Given the description of an element on the screen output the (x, y) to click on. 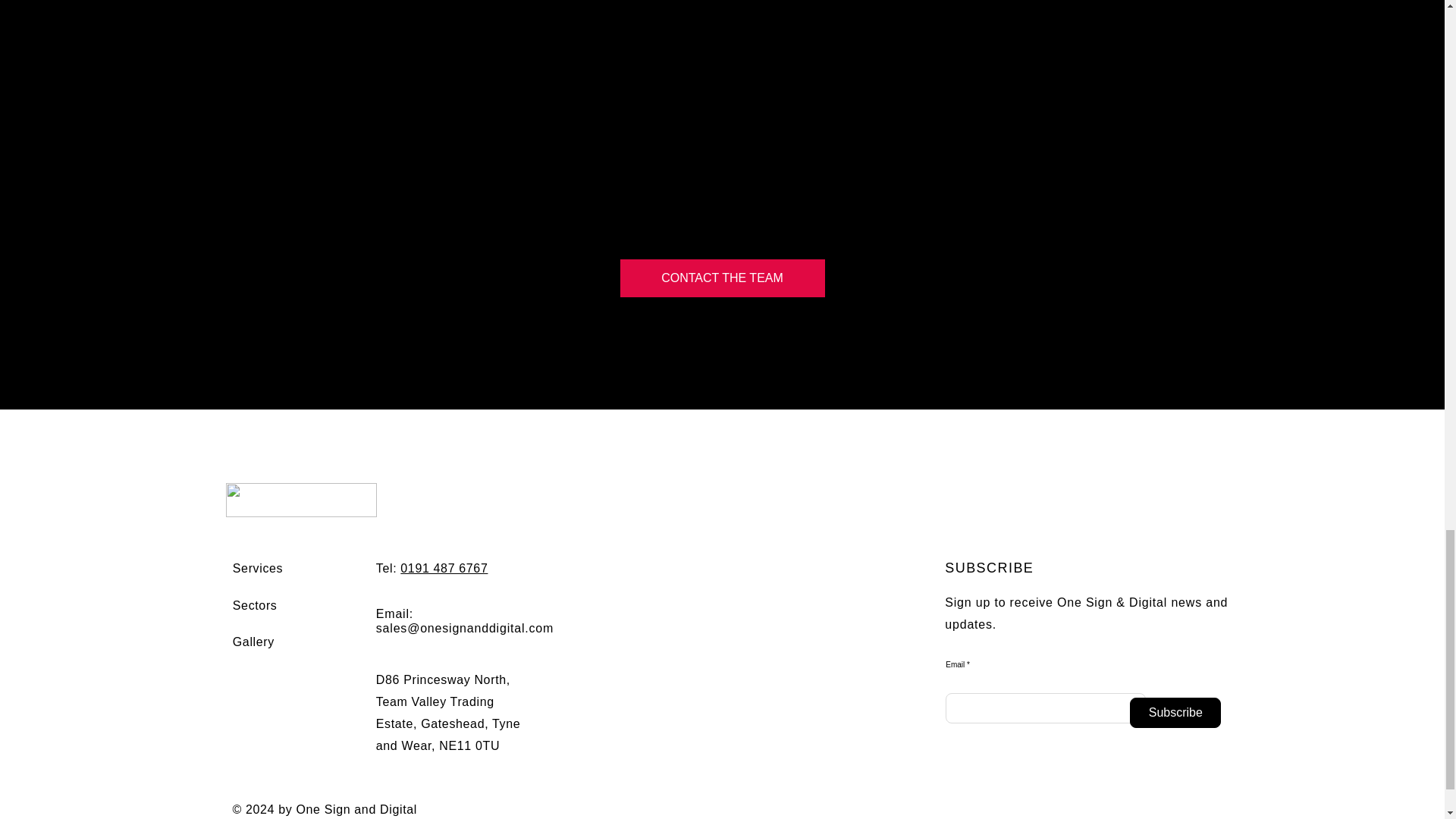
Sectors (255, 604)
0191 487 6767 (443, 567)
Gallery (253, 641)
Subscribe (1175, 712)
CONTACT THE TEAM (722, 278)
Services (257, 567)
